Given the description of an element on the screen output the (x, y) to click on. 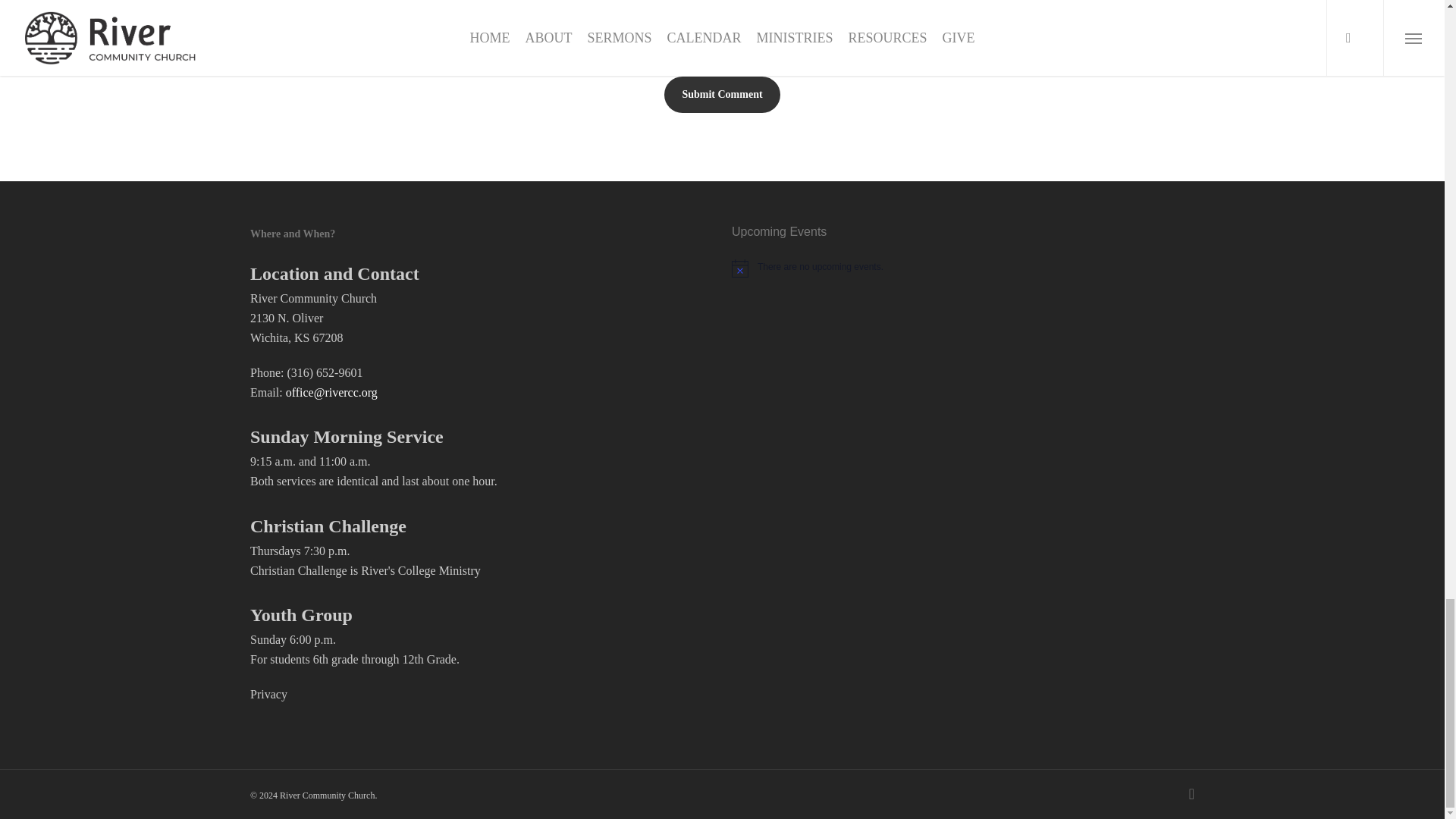
Submit Comment (720, 94)
yes (258, 30)
